Given the description of an element on the screen output the (x, y) to click on. 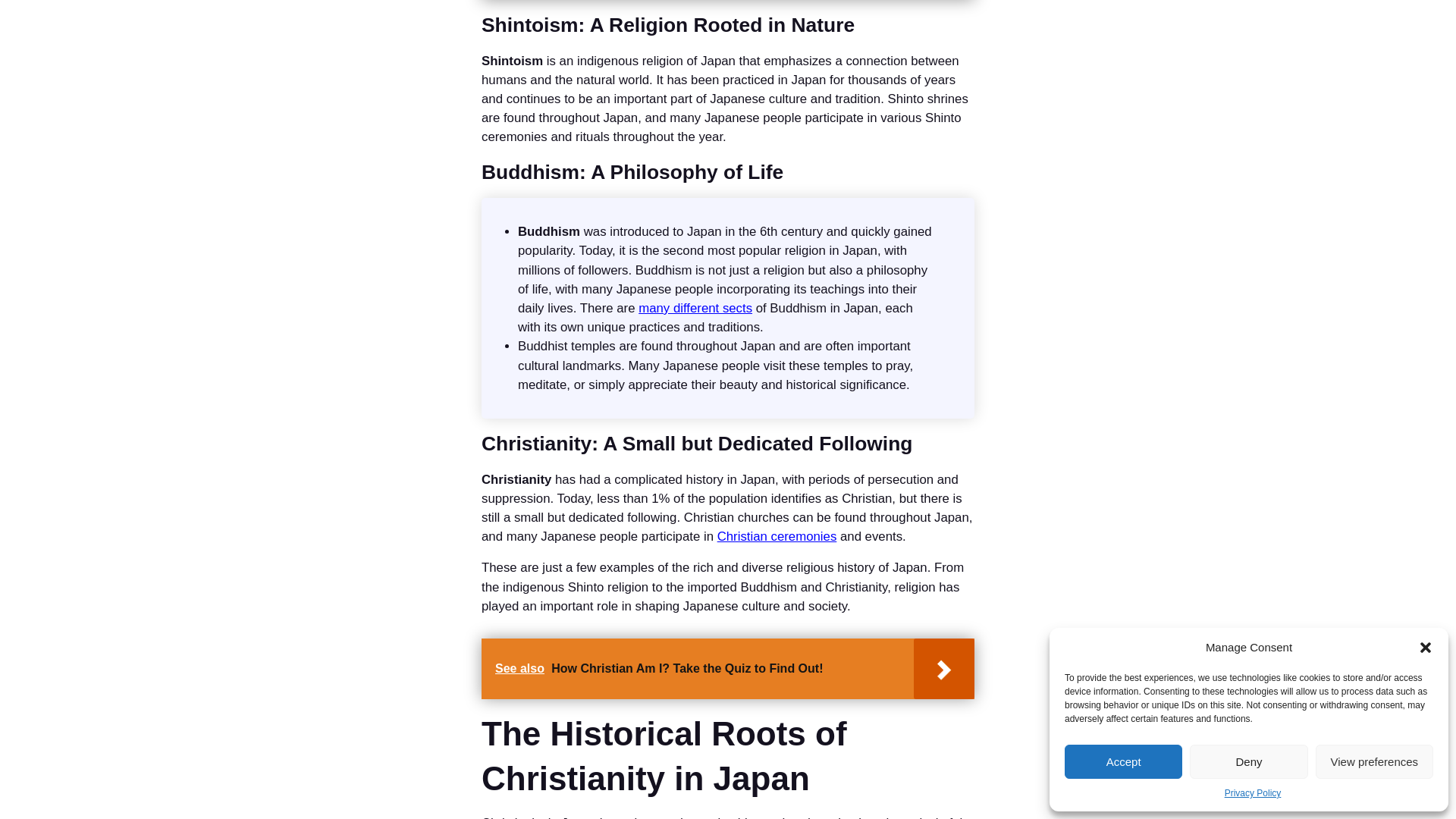
Christian ceremonies (777, 536)
many different sects (695, 308)
Christian ceremonies (777, 536)
many different sects (695, 308)
See also  How Christian Am I? Take the Quiz to Find Out! (727, 668)
